Given the description of an element on the screen output the (x, y) to click on. 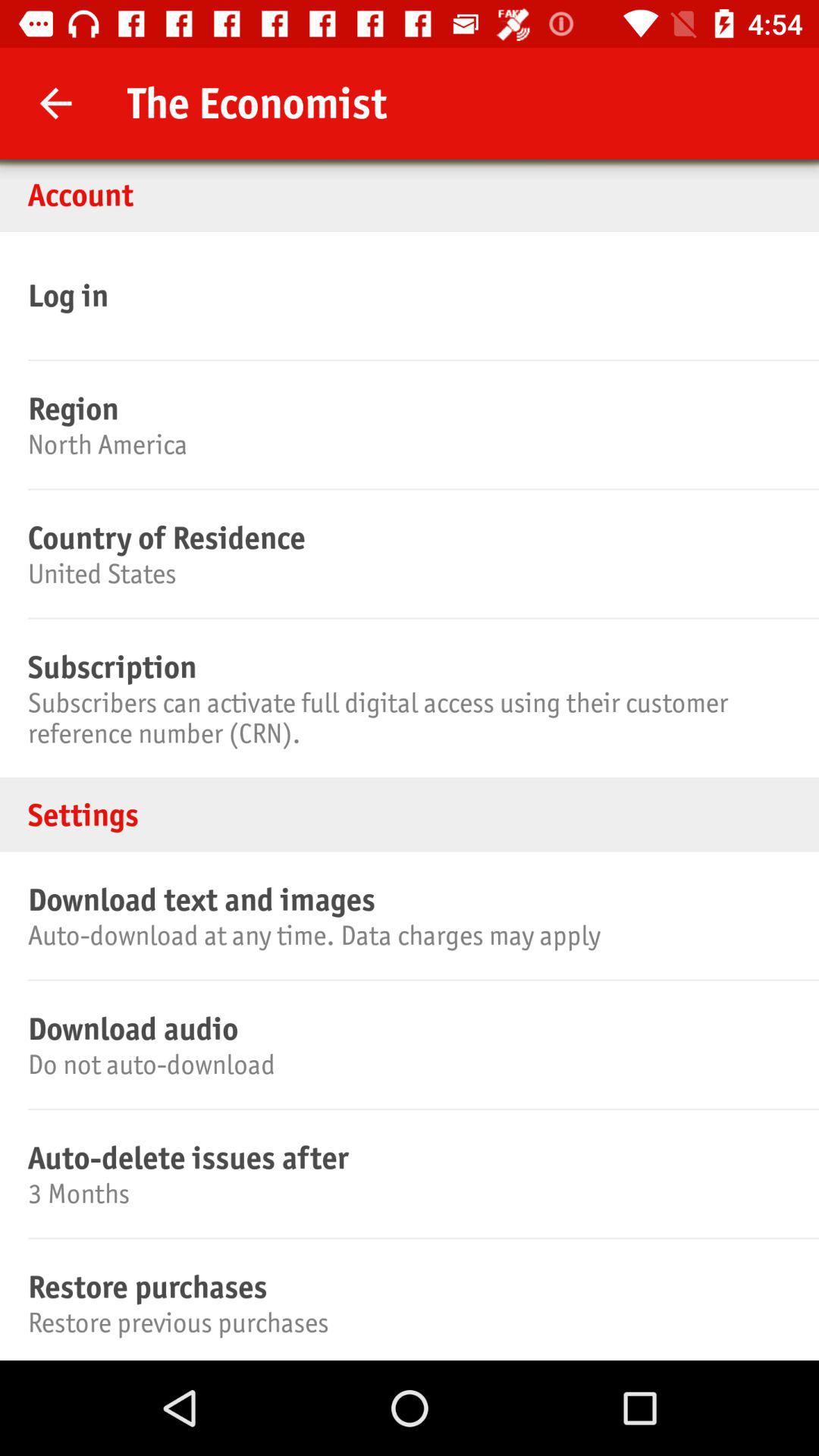
turn off icon above restore purchases icon (407, 1193)
